Given the description of an element on the screen output the (x, y) to click on. 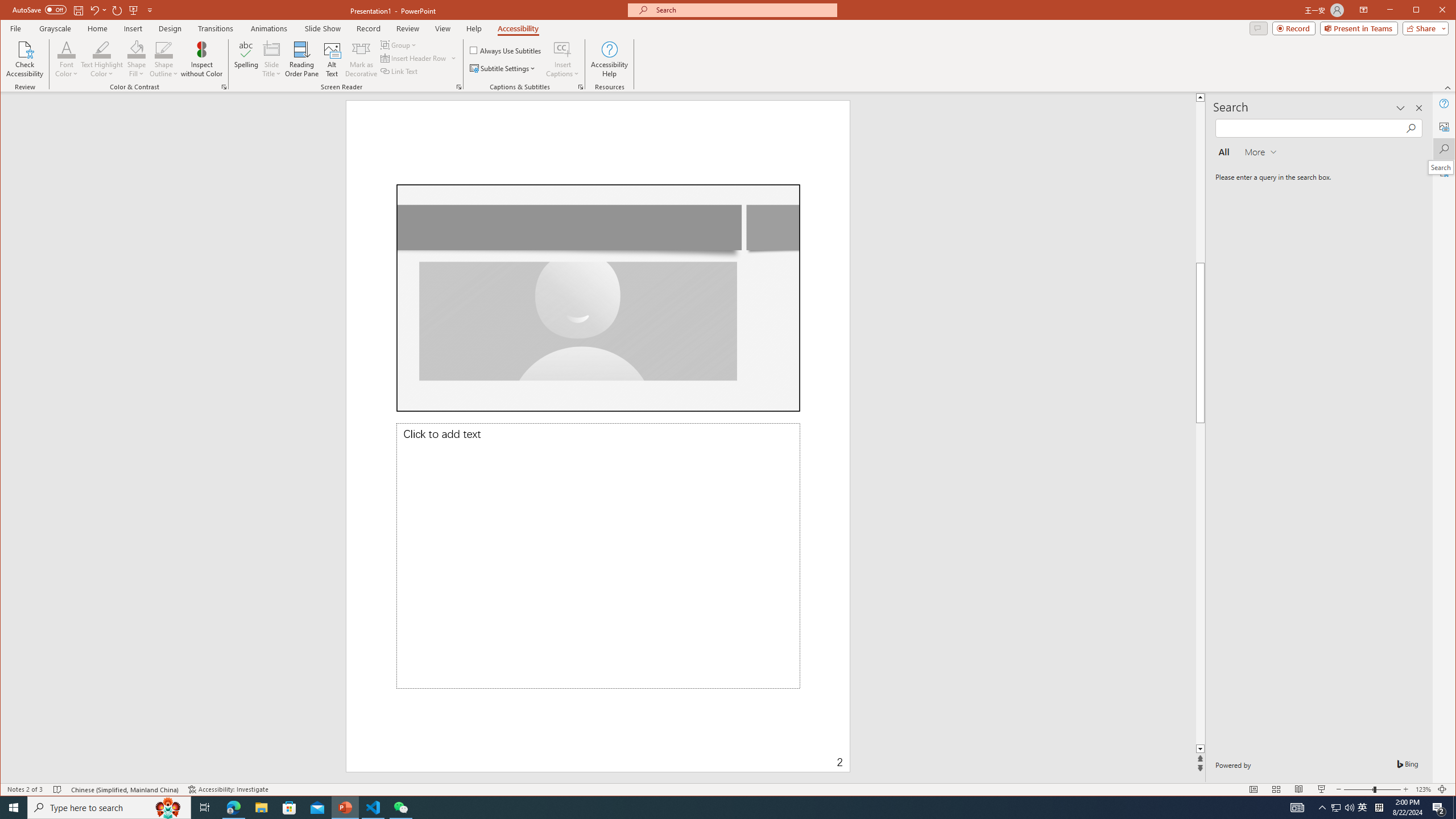
Insert Header Row (418, 57)
Subtitle Settings (502, 68)
Slide Title (271, 59)
Zoom 123% (1422, 789)
